Given the description of an element on the screen output the (x, y) to click on. 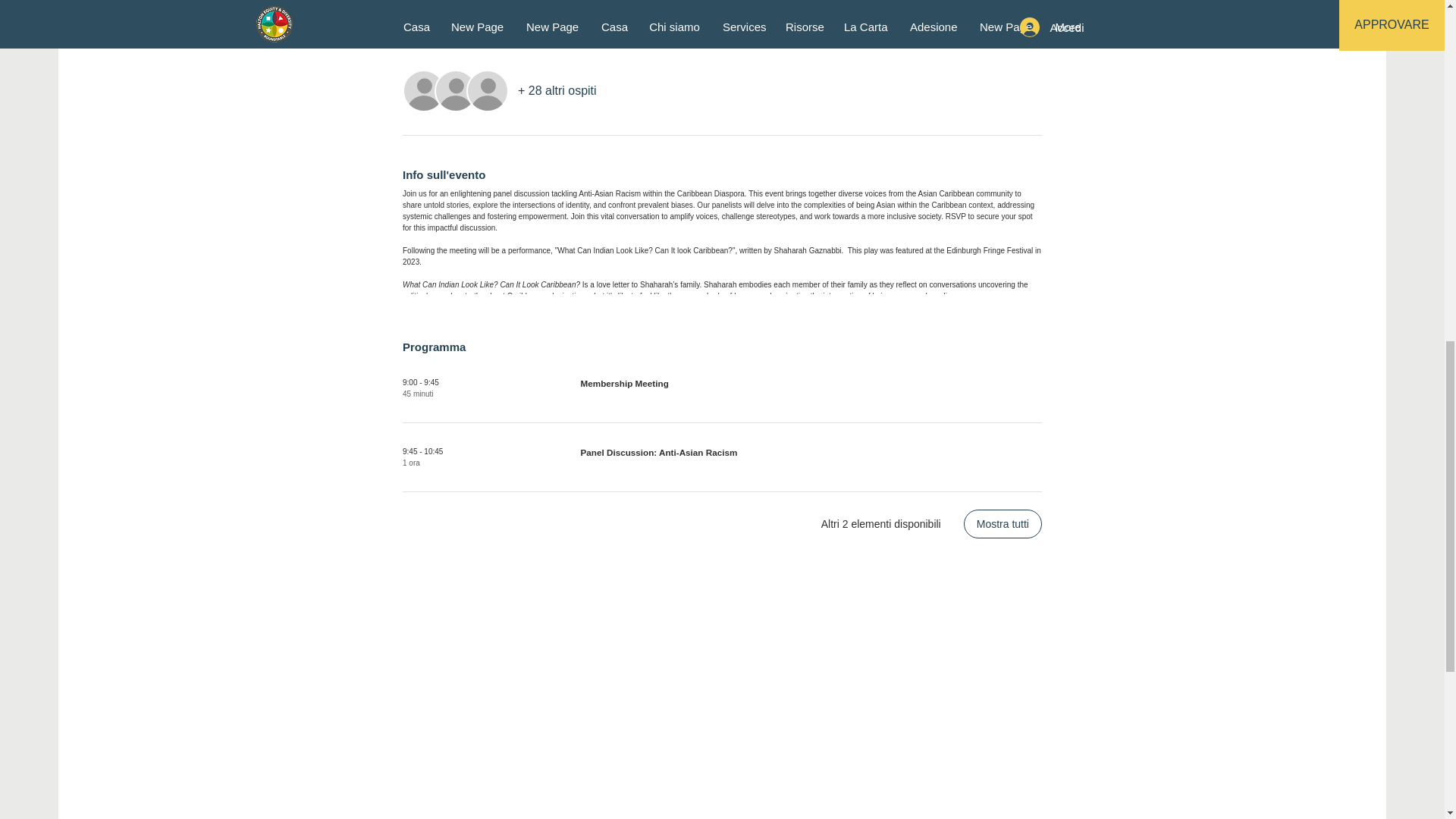
Mostra tutti (1002, 523)
